Given the description of an element on the screen output the (x, y) to click on. 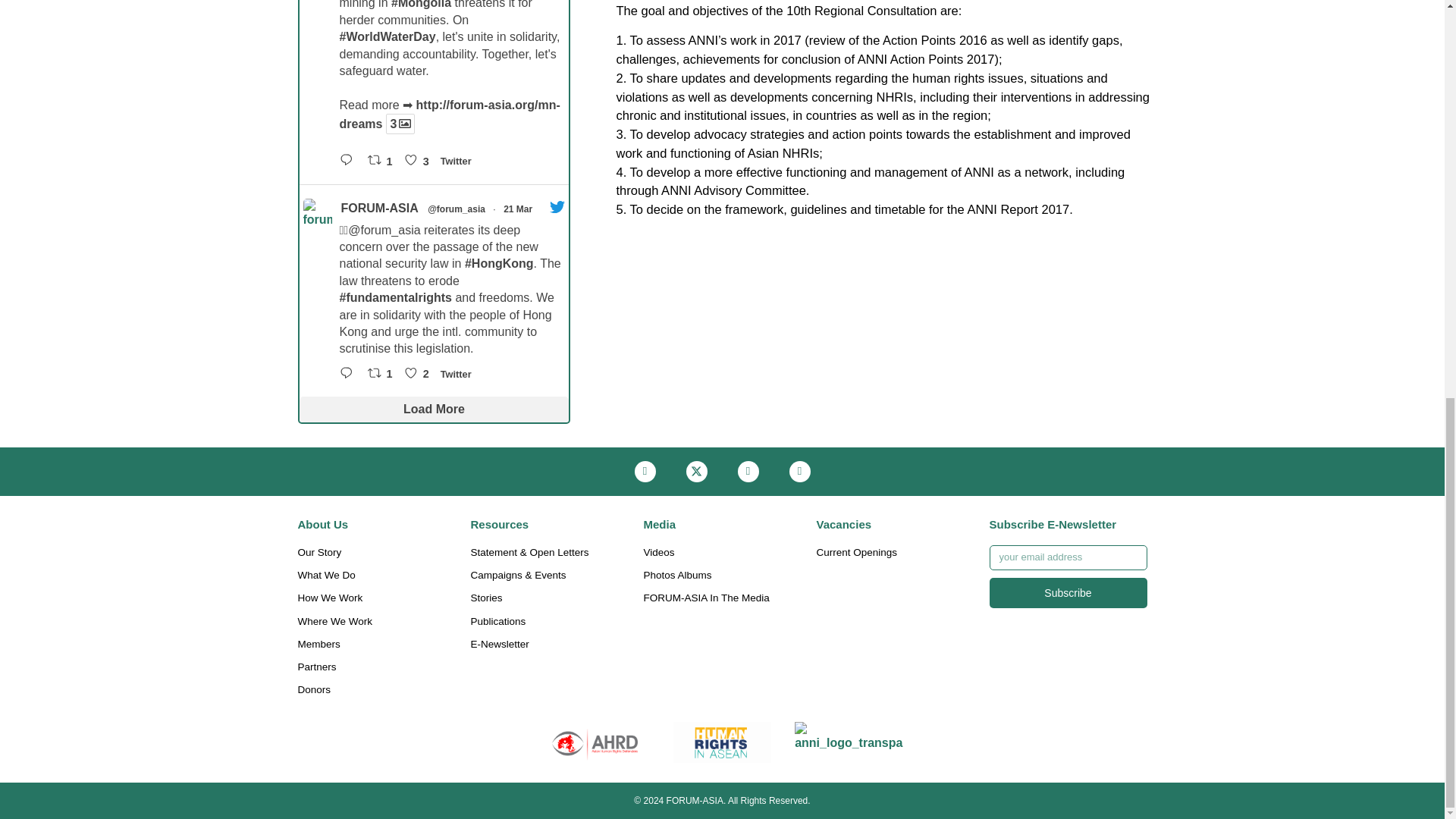
Default Title (722, 741)
Default Title (848, 741)
Default Title (595, 741)
